Given the description of an element on the screen output the (x, y) to click on. 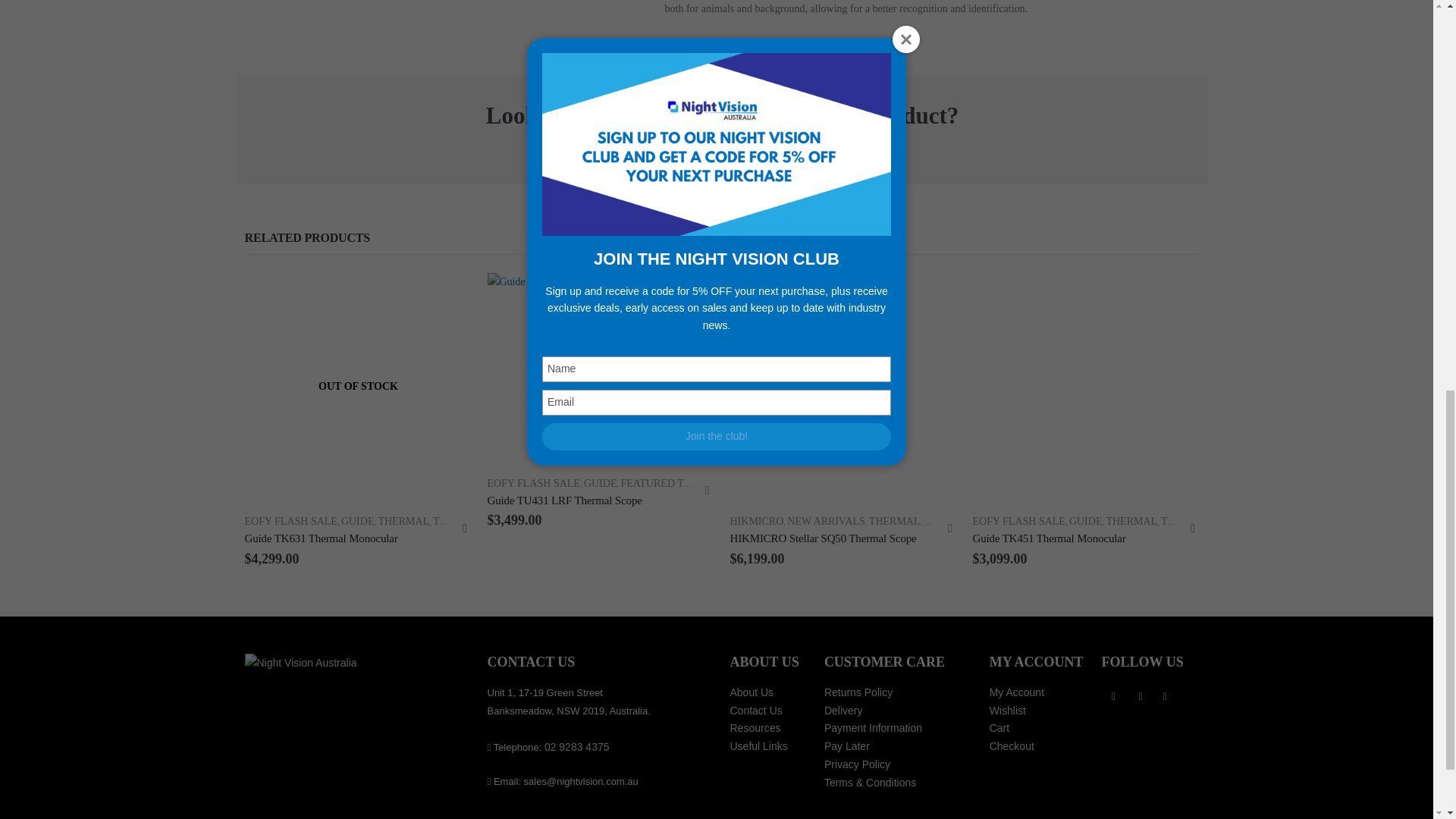
Linkedin (1164, 695)
Facebook (1112, 695)
YouTube video player (450, 31)
Twitter (1140, 695)
